Given the description of an element on the screen output the (x, y) to click on. 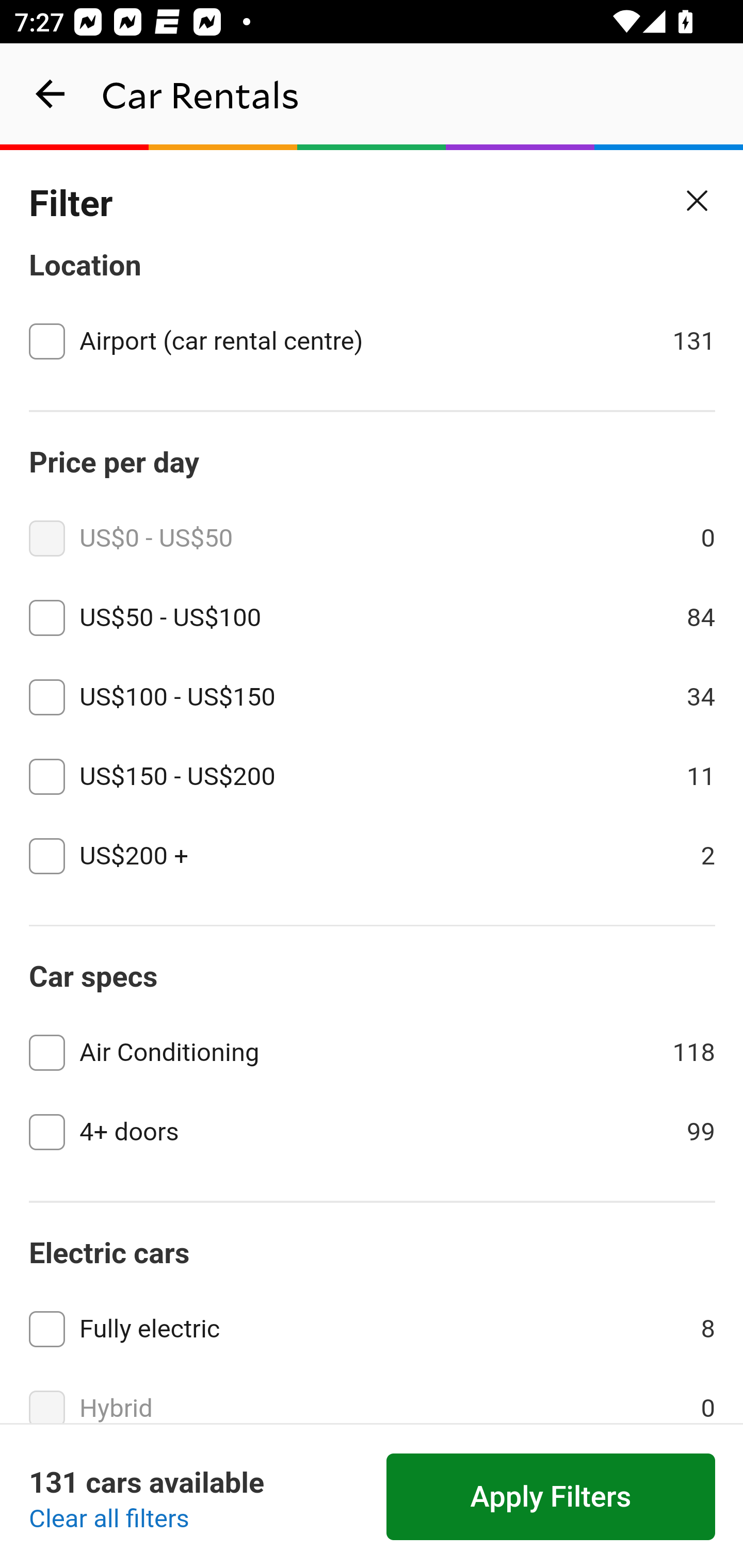
navigation_button (50, 93)
Close (697, 201)
Apply Filters (551, 1497)
Clear all filters (108, 1519)
